Given the description of an element on the screen output the (x, y) to click on. 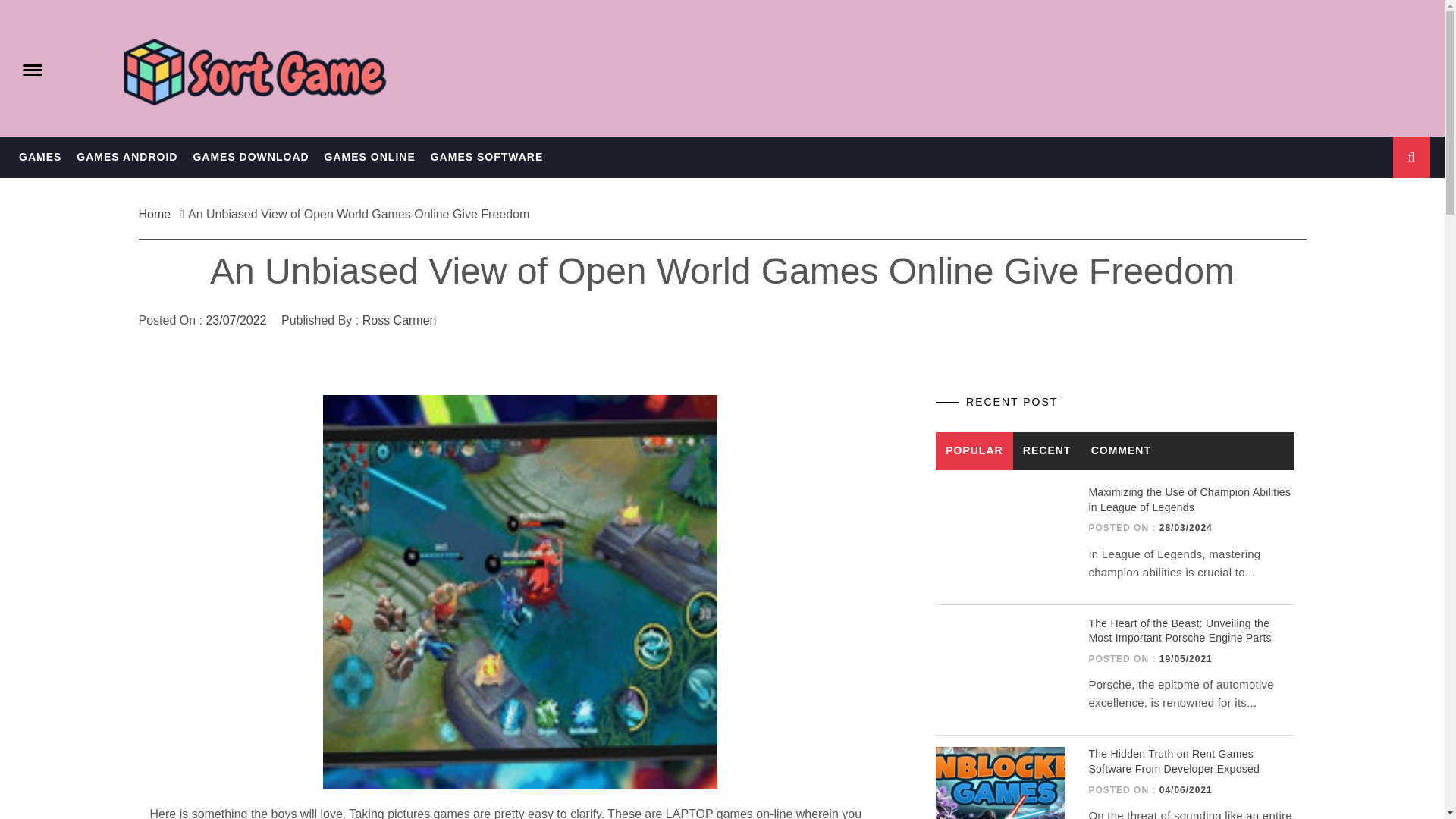
GAMES SOFTWARE (487, 157)
Home (158, 214)
GAMES DOWNLOAD (249, 157)
Search (797, 37)
POPULAR (974, 451)
GAMES ONLINE (370, 157)
SORT GAME (97, 37)
GAMES (39, 157)
GAMES ANDROID (126, 157)
